Given the description of an element on the screen output the (x, y) to click on. 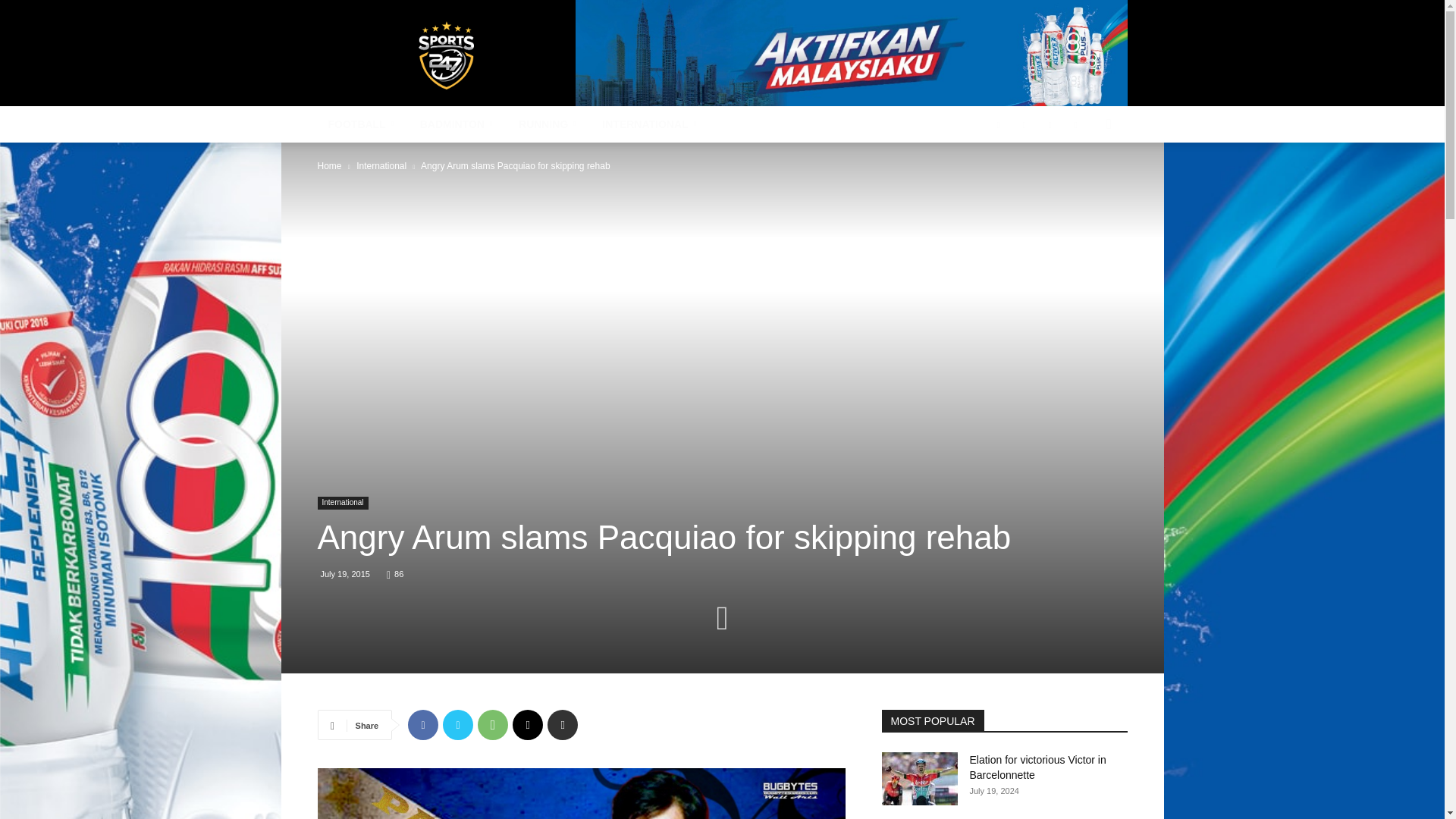
FOOTBALL (363, 124)
BADMINTON (458, 124)
